Given the description of an element on the screen output the (x, y) to click on. 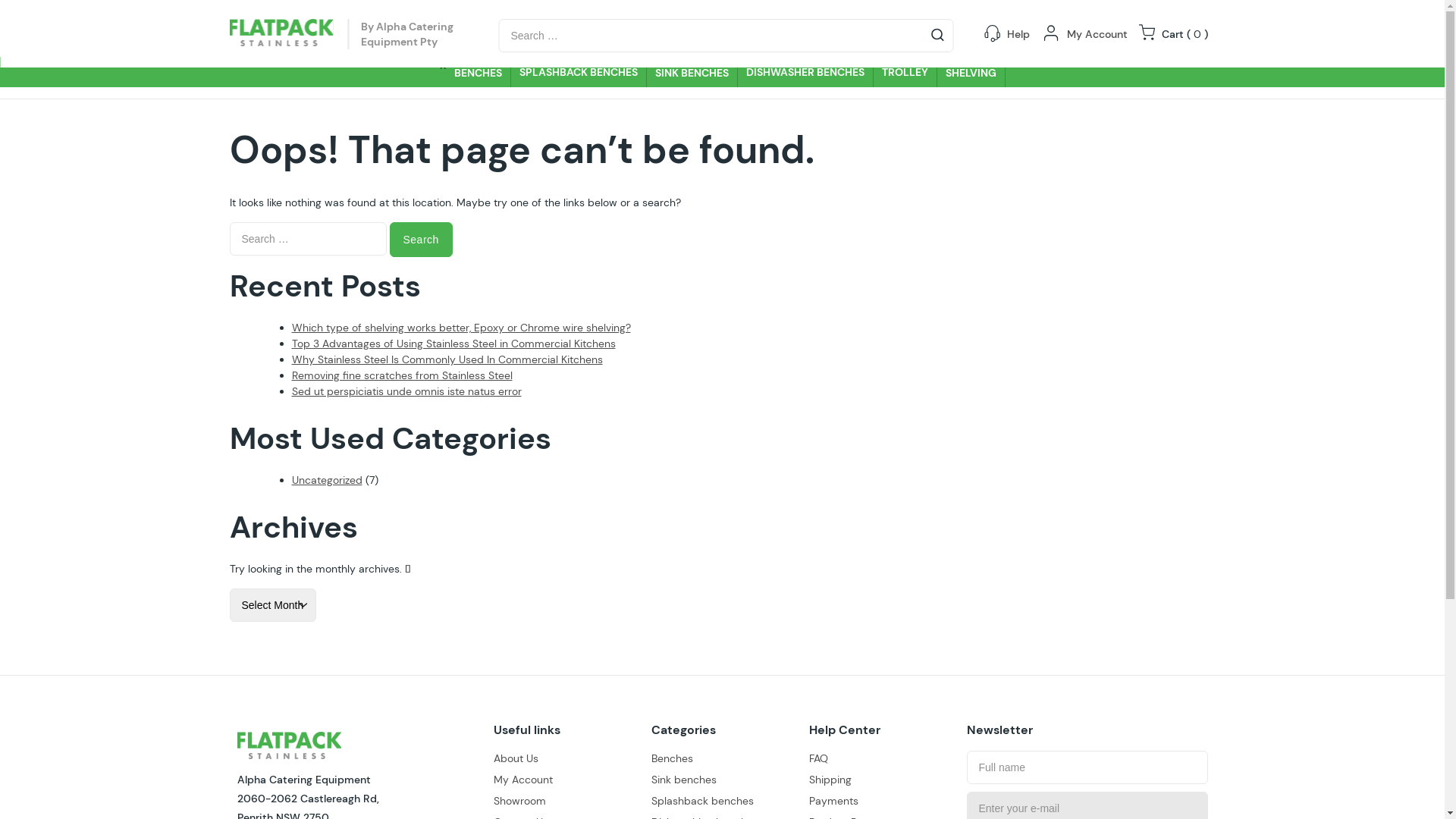
Removing fine scratches from Stainless Steel Element type: text (401, 375)
SINK BENCHES Element type: text (691, 71)
Splashback benches Element type: text (701, 800)
Sink benches Element type: text (682, 779)
Payments Element type: text (832, 800)
My Account Element type: text (522, 779)
SHELVING Element type: text (971, 71)
Shipping Element type: text (829, 779)
About Us Element type: text (514, 758)
My Account Element type: text (1096, 33)
TROLLEY Element type: text (905, 71)
Uncategorized Element type: text (326, 479)
BENCHES Element type: text (478, 71)
Showroom Element type: text (518, 800)
Why Stainless Steel Is Commonly Used In Commercial Kitchens Element type: text (446, 359)
Search Element type: text (31, 17)
Sed ut perspiciatis unde omnis iste natus error Element type: text (405, 391)
SPLASHBACK BENCHES Element type: text (578, 71)
FAQ Element type: text (817, 758)
Benches Element type: text (671, 758)
Search Element type: text (420, 239)
Help Element type: text (1018, 33)
DISHWASHER BENCHES Element type: text (804, 71)
